Given the description of an element on the screen output the (x, y) to click on. 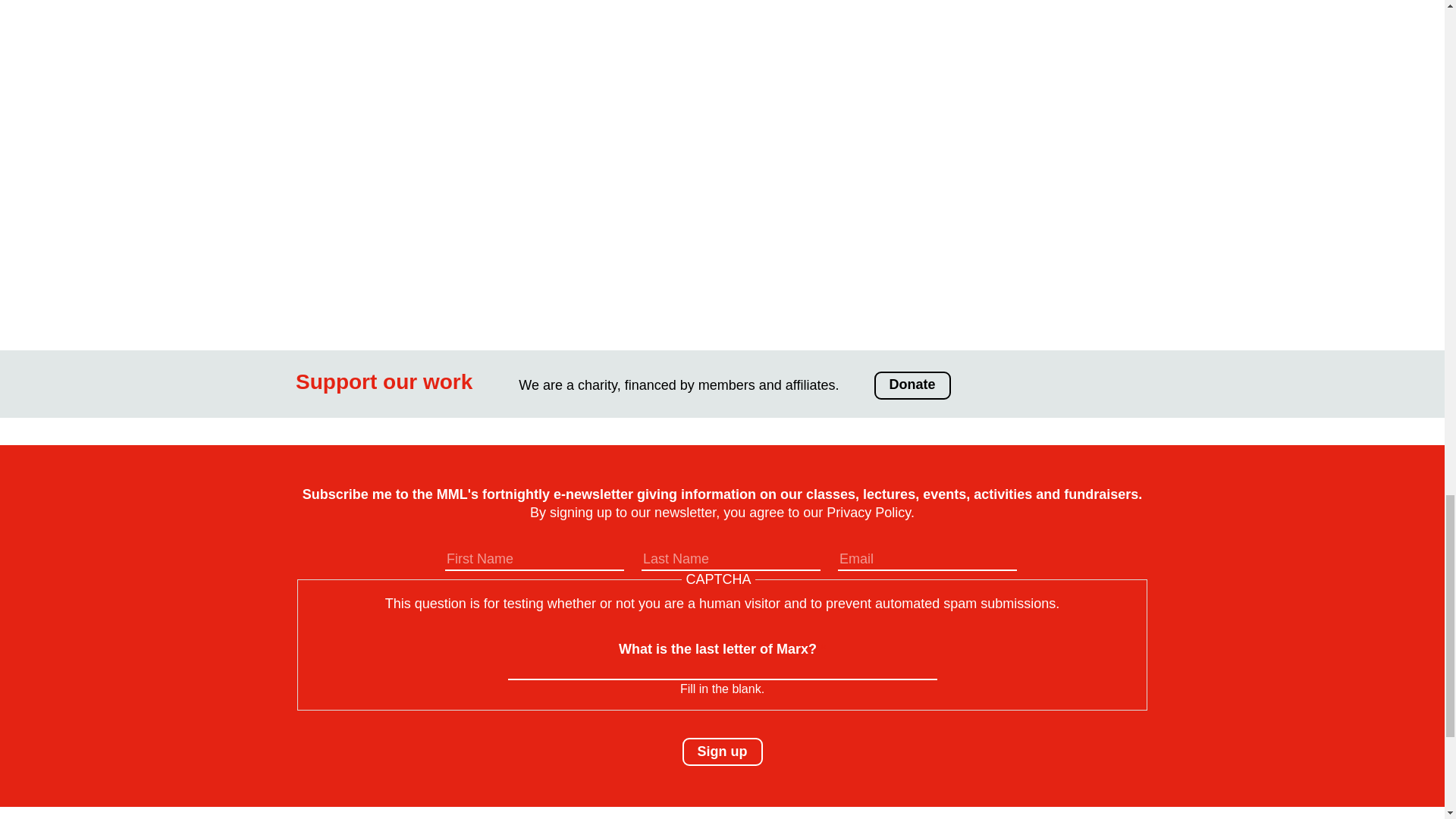
Donate (912, 385)
Privacy Policy (869, 512)
Sign up (722, 751)
Sign up (722, 751)
